Given the description of an element on the screen output the (x, y) to click on. 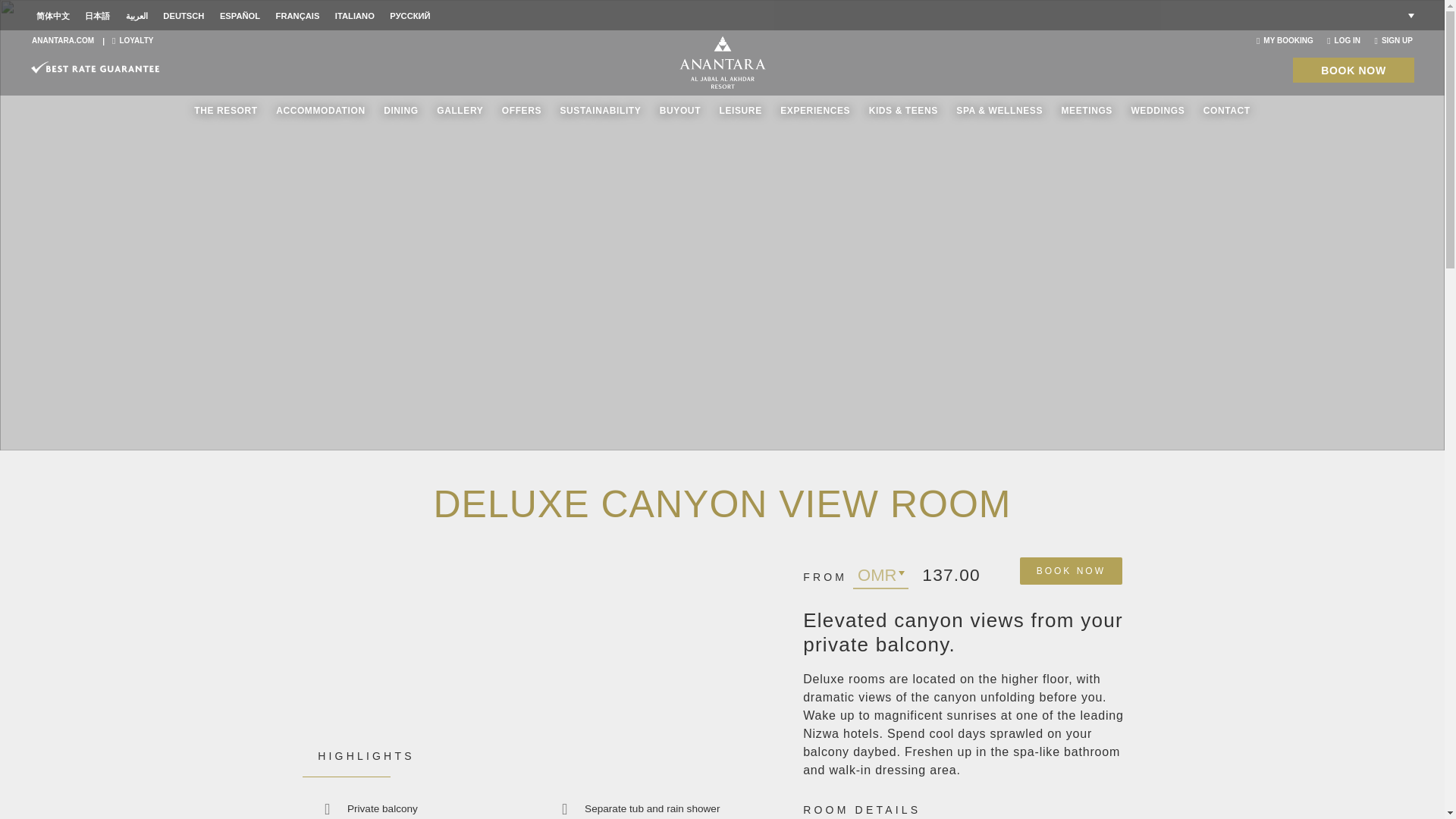
BOOK NOW (1352, 69)
MY BOOKING (1284, 40)
LOYALTY (132, 40)
LOG IN (1342, 40)
BEST RATE GUARANTEE (95, 66)
SIGN UP (1393, 40)
ITALIANO (355, 16)
DEUTSCH (183, 16)
ANANTARA.COM (63, 40)
